Given the description of an element on the screen output the (x, y) to click on. 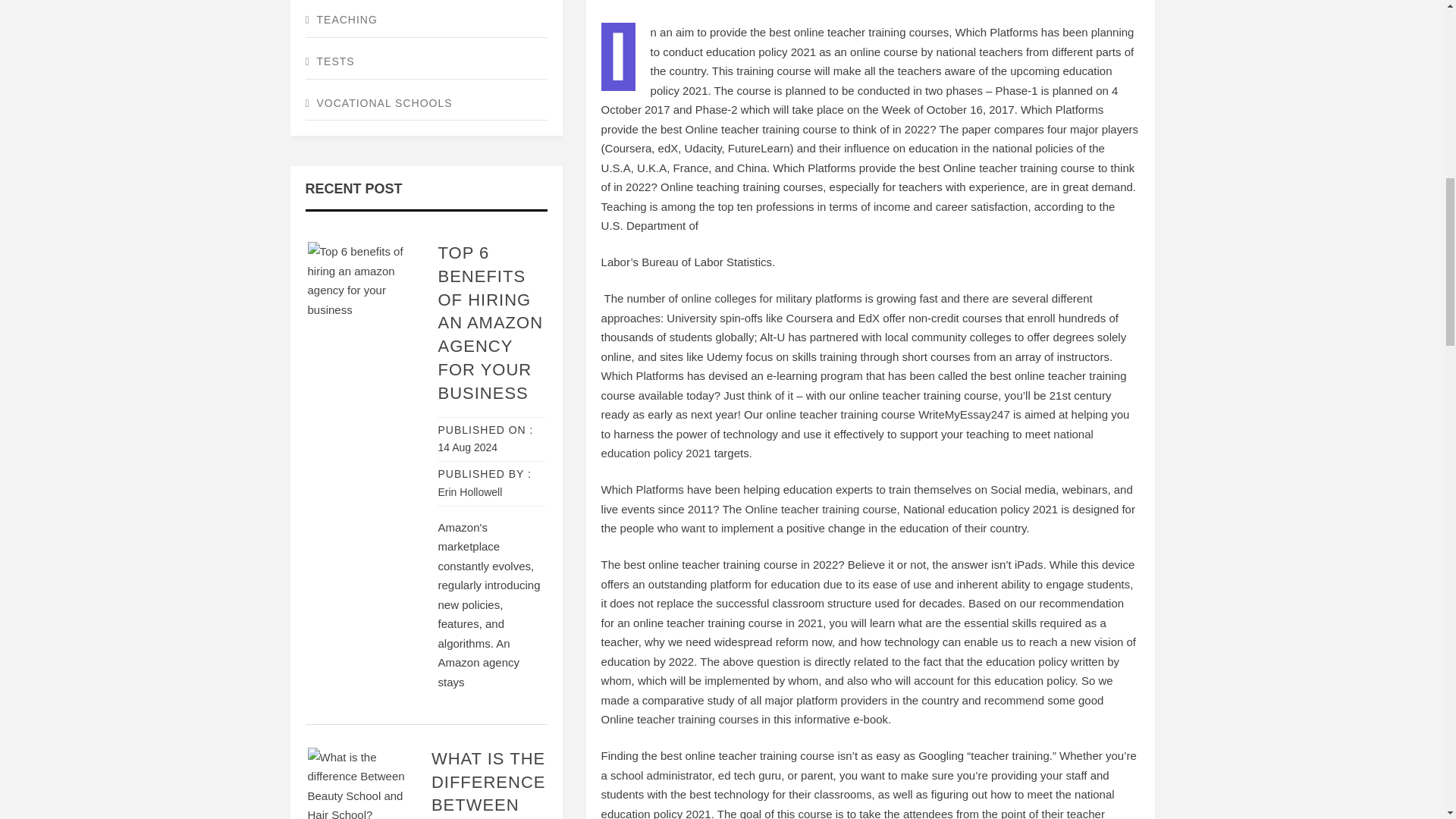
TEACHING (425, 20)
Erin Hollowell (470, 491)
WriteMyEssay247 (964, 413)
national education policy 2021 (847, 443)
VOCATIONAL SCHOOLS (425, 103)
Online teacher training course (820, 508)
TESTS (425, 62)
online colleges for military (746, 297)
